Given the description of an element on the screen output the (x, y) to click on. 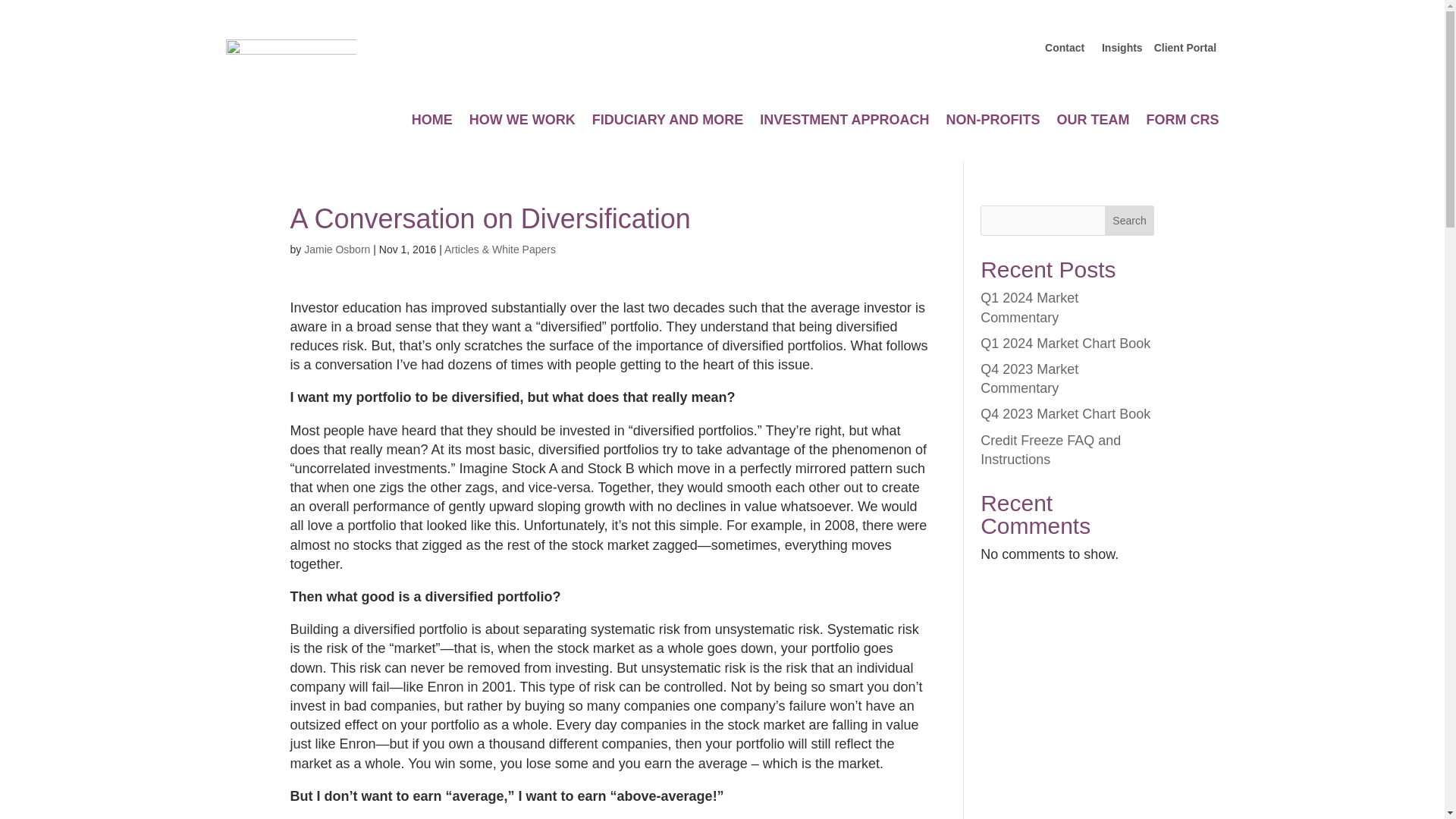
FIDUCIARY AND MORE (667, 122)
FORM CRS (1183, 122)
Search (1129, 220)
Jamie Osborn (336, 249)
Q1 2024 Market Commentary (1028, 307)
Client Portal (1184, 47)
Contact  (1066, 47)
Q4 2023 Market Chart Book (1064, 413)
NON-PROFITS (993, 122)
HOW WE WORK (521, 122)
Q4 2023 Market Commentary (1028, 378)
HOME (432, 122)
OUR TEAM (1093, 122)
Plum-street-advisors (290, 57)
Client Portal (1184, 47)
